Given the description of an element on the screen output the (x, y) to click on. 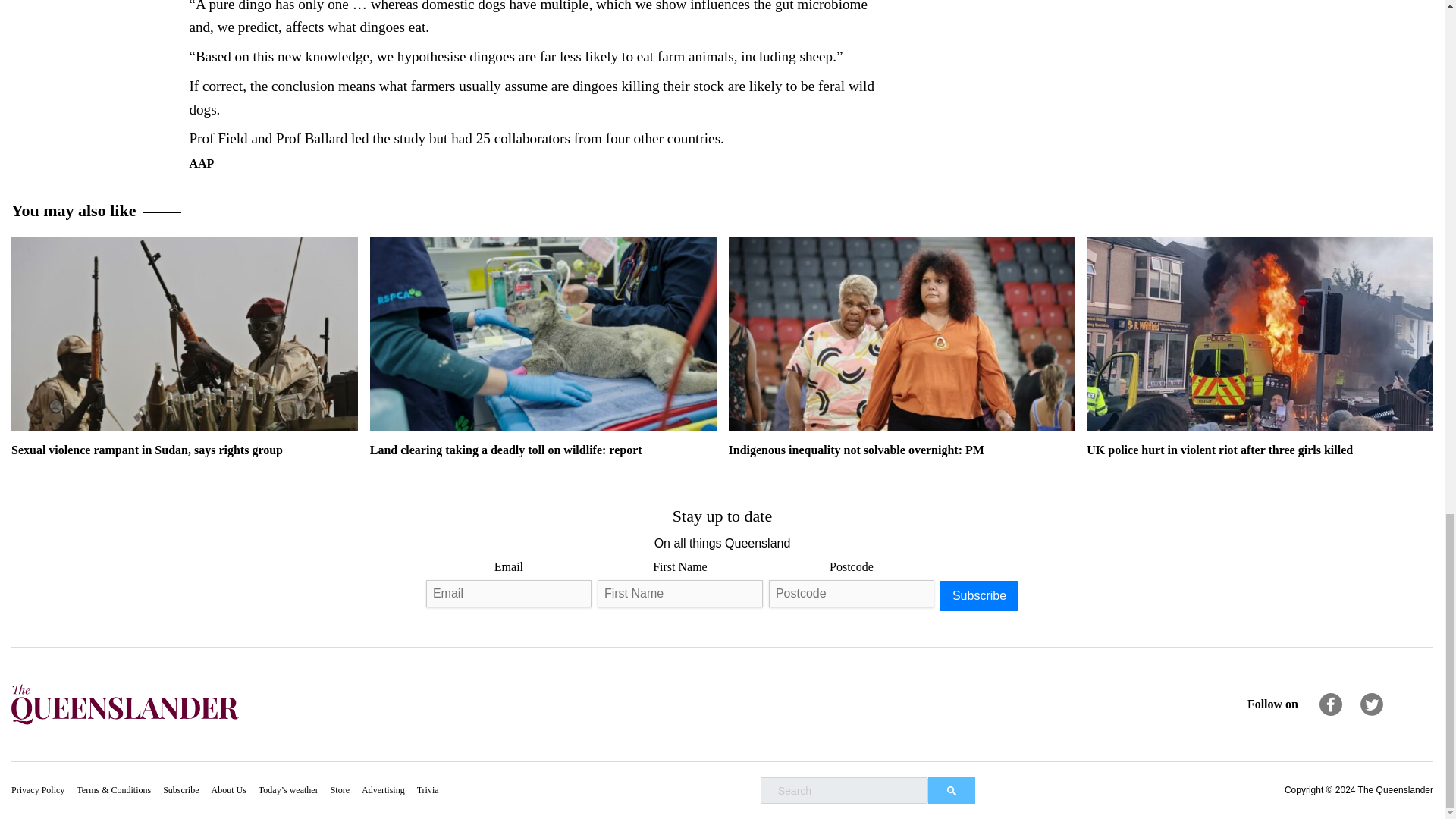
Land clearing taking a deadly toll on wildlife: report (542, 333)
Land clearing taking a deadly toll on wildlife: report (542, 346)
Indigenous inequality not solvable overnight: PM (901, 346)
Indigenous inequality not solvable overnight: PM (901, 333)
Sexual violence rampant in Sudan, says rights group (184, 333)
UK police hurt in violent riot after three girls killed (1259, 333)
Sexual violence rampant in Sudan, says rights group (184, 346)
